Given the description of an element on the screen output the (x, y) to click on. 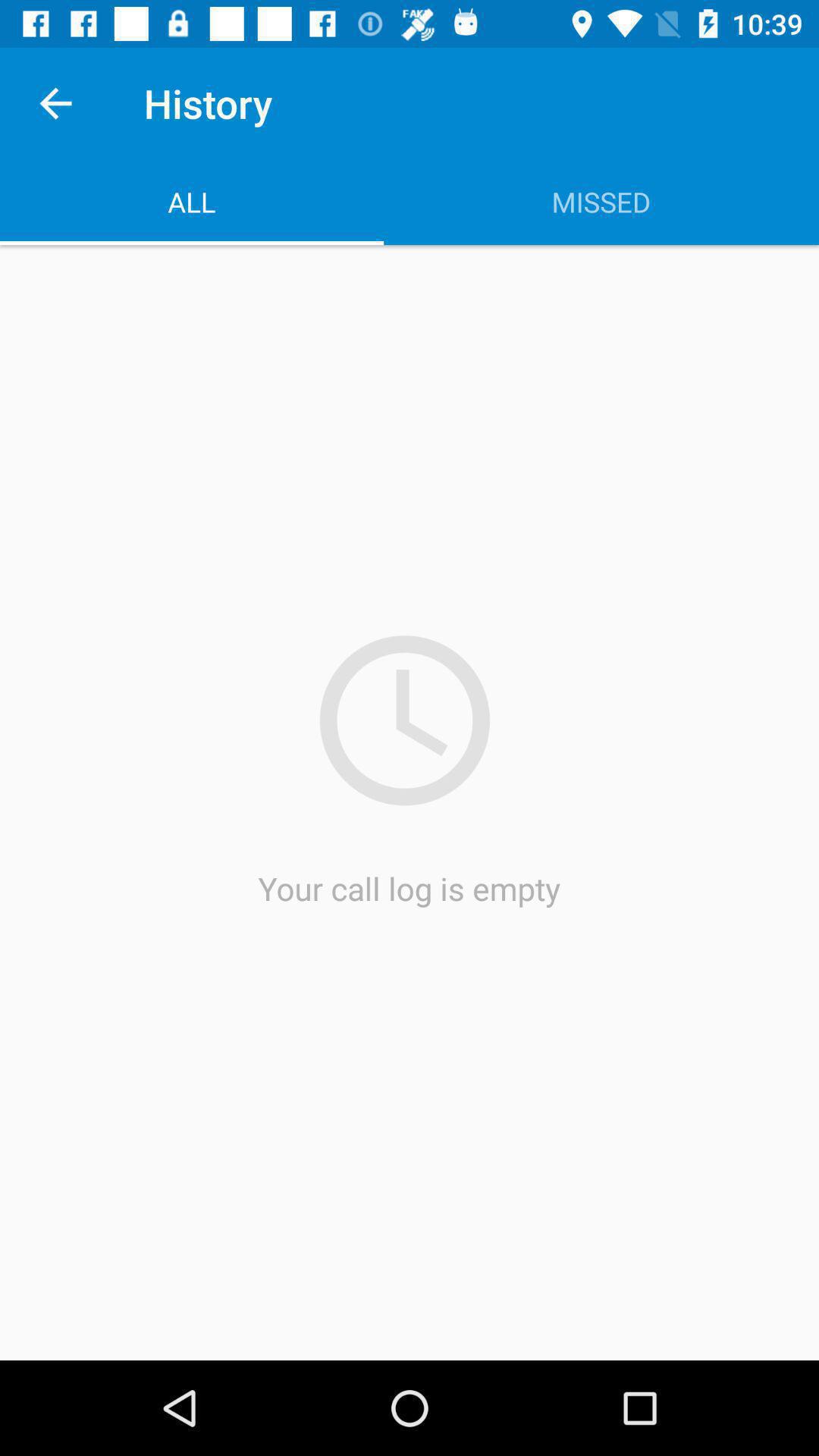
press missed app (601, 202)
